Given the description of an element on the screen output the (x, y) to click on. 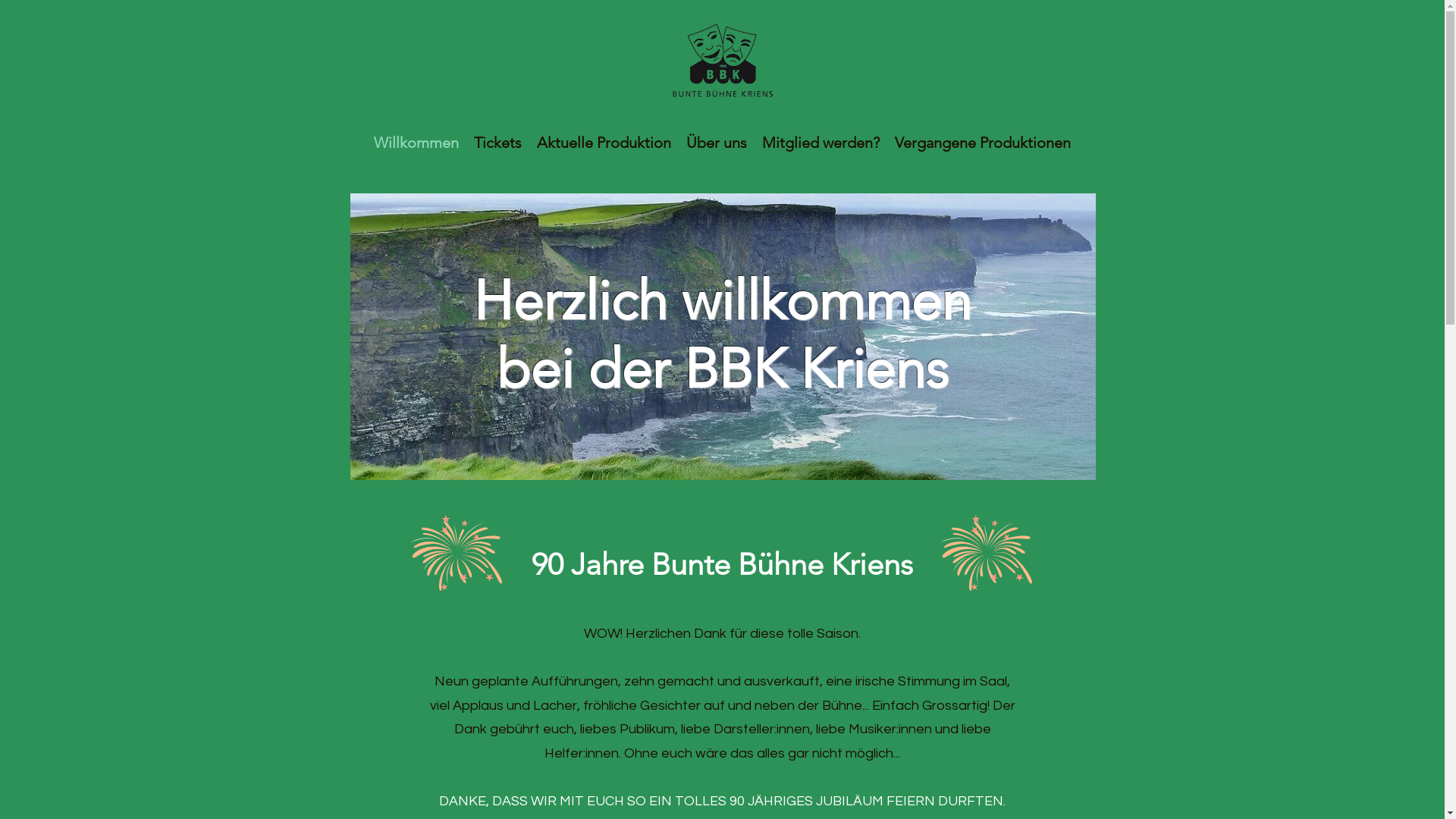
Tickets Element type: text (497, 140)
Aktuelle Produktion Element type: text (603, 140)
Mitglied werden? Element type: text (820, 140)
Willkommen Element type: text (416, 140)
BBK Logo transparent.png Element type: hover (722, 61)
Vergangene Produktionen Element type: text (982, 140)
Irland-Cliffs-of-Mother-1170x450.jpg Element type: hover (722, 336)
